Given the description of an element on the screen output the (x, y) to click on. 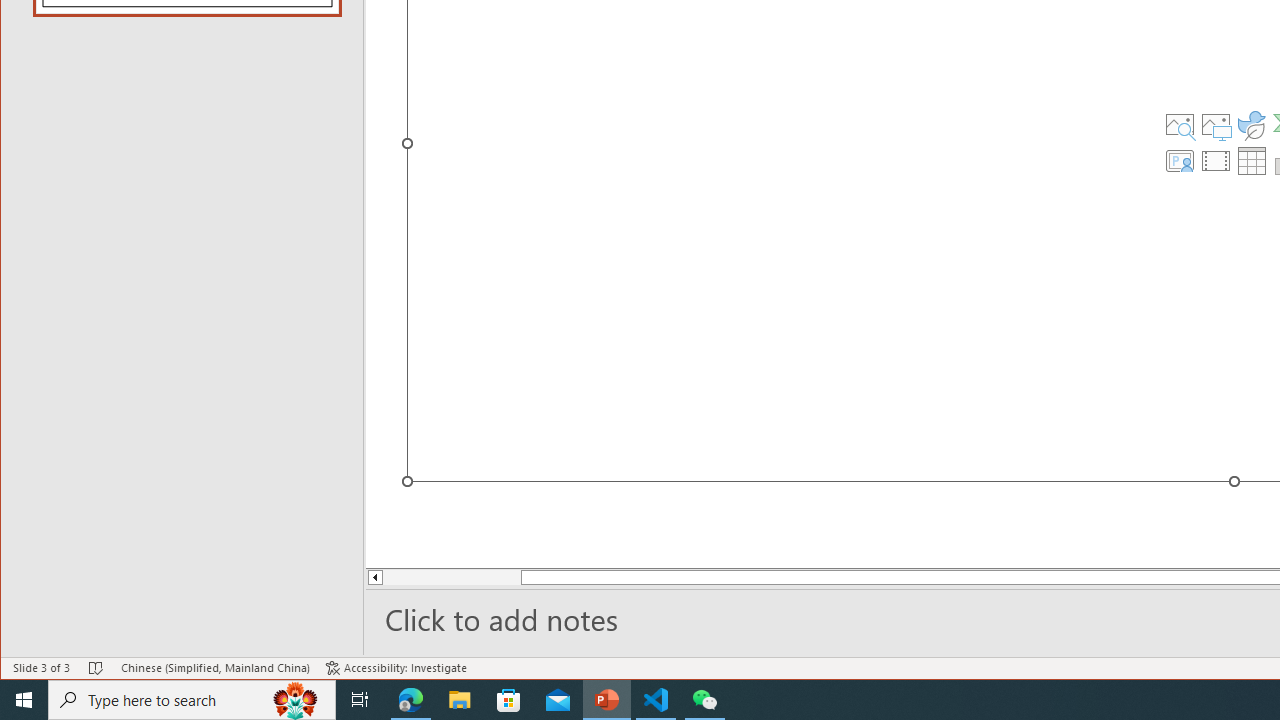
Stock Images (1179, 124)
